Given the description of an element on the screen output the (x, y) to click on. 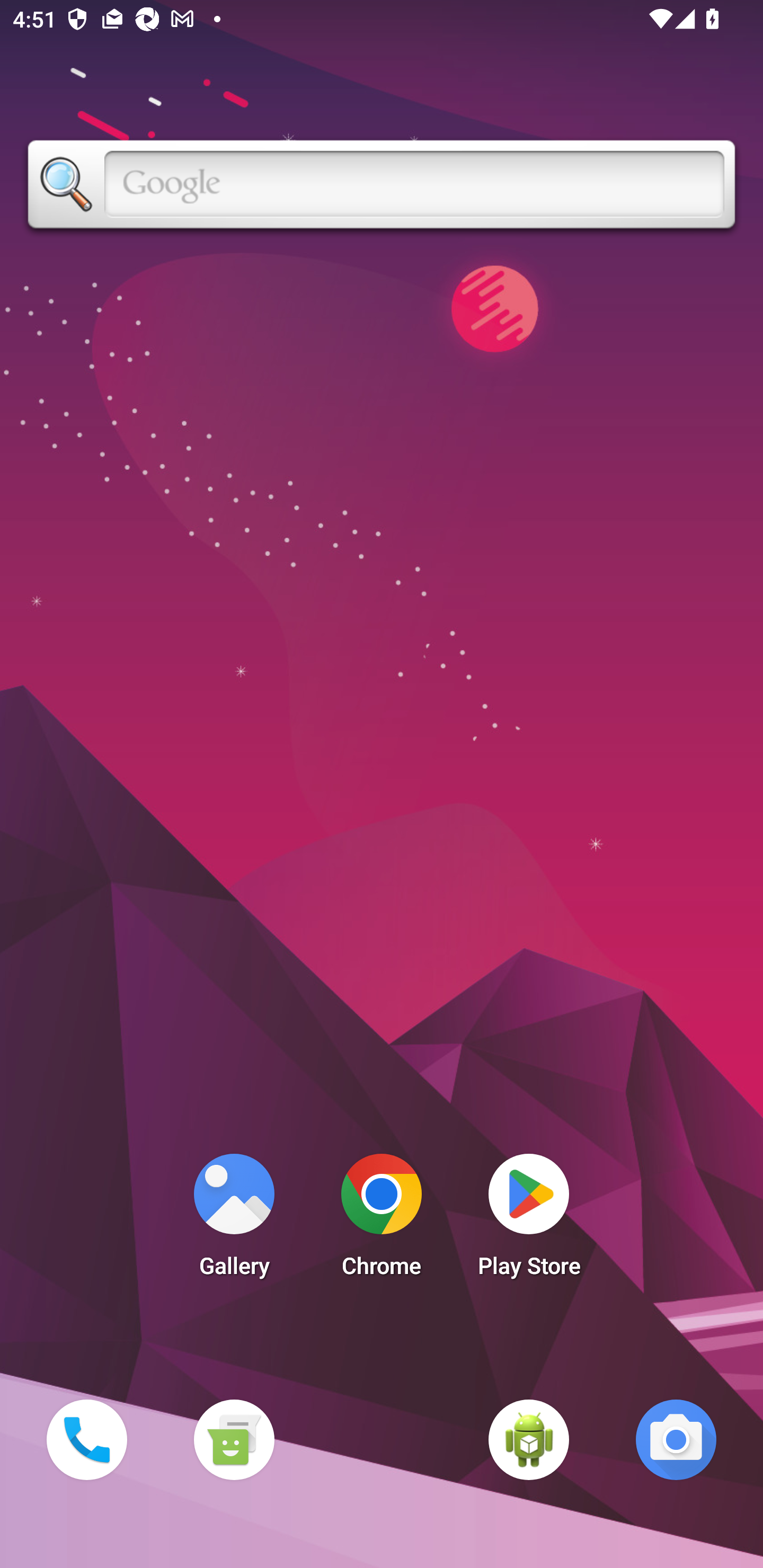
Gallery (233, 1220)
Chrome (381, 1220)
Play Store (528, 1220)
Phone (86, 1439)
Messaging (233, 1439)
WebView Browser Tester (528, 1439)
Camera (676, 1439)
